Given the description of an element on the screen output the (x, y) to click on. 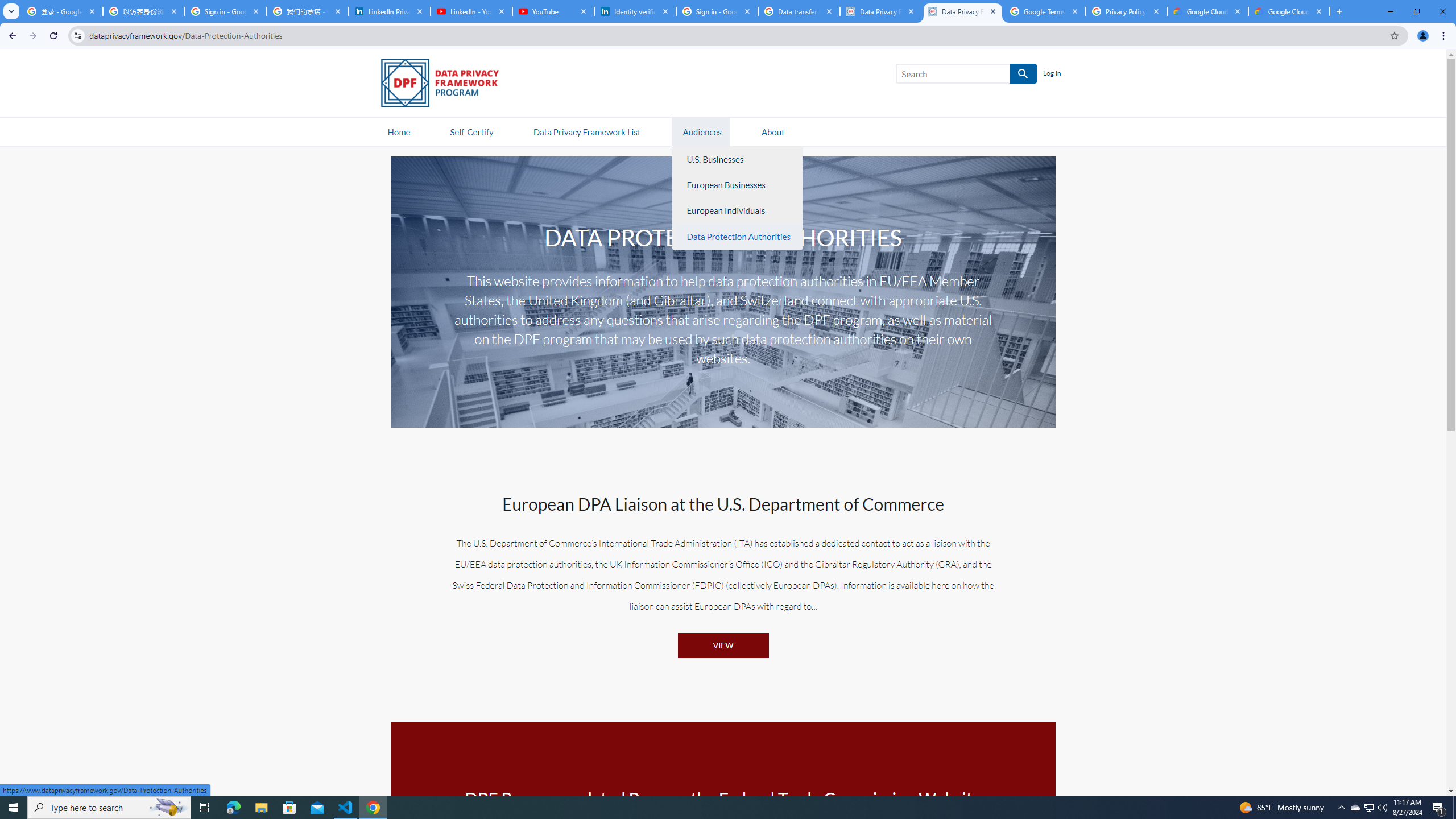
European Businesses (738, 184)
Search SEARCH (965, 75)
